Given the description of an element on the screen output the (x, y) to click on. 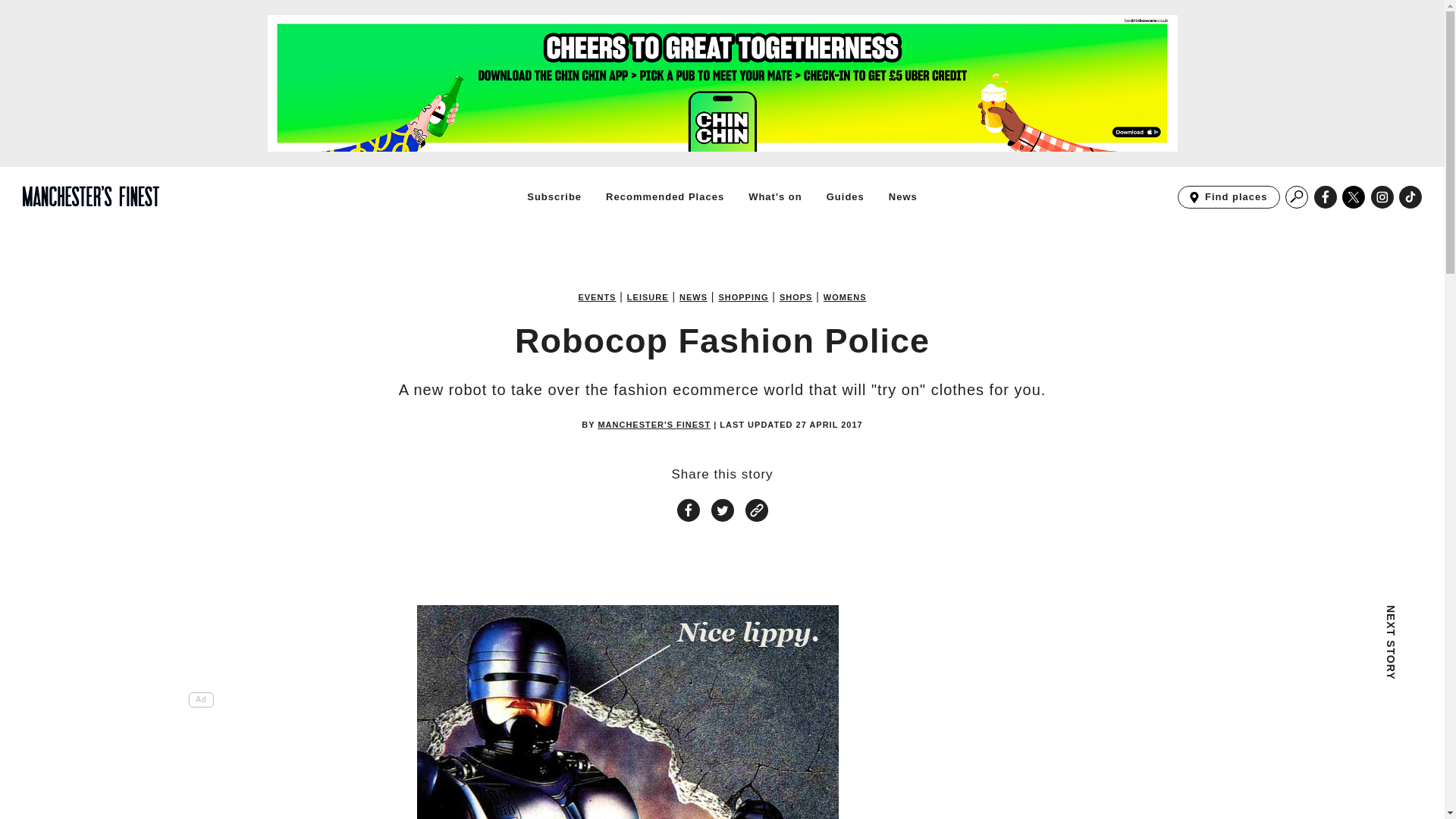
Subscribe (1228, 196)
WOMENS (553, 196)
SHOPS (845, 297)
Go to Manchester's Finest X profile (795, 297)
LEISURE (1353, 196)
Go to Manchester's Finest TikTok profile (647, 297)
Go to Manchester's Finest Facebook page (1410, 196)
NEWS (1325, 196)
Go to Manchester's Finest X profile (693, 297)
